Given the description of an element on the screen output the (x, y) to click on. 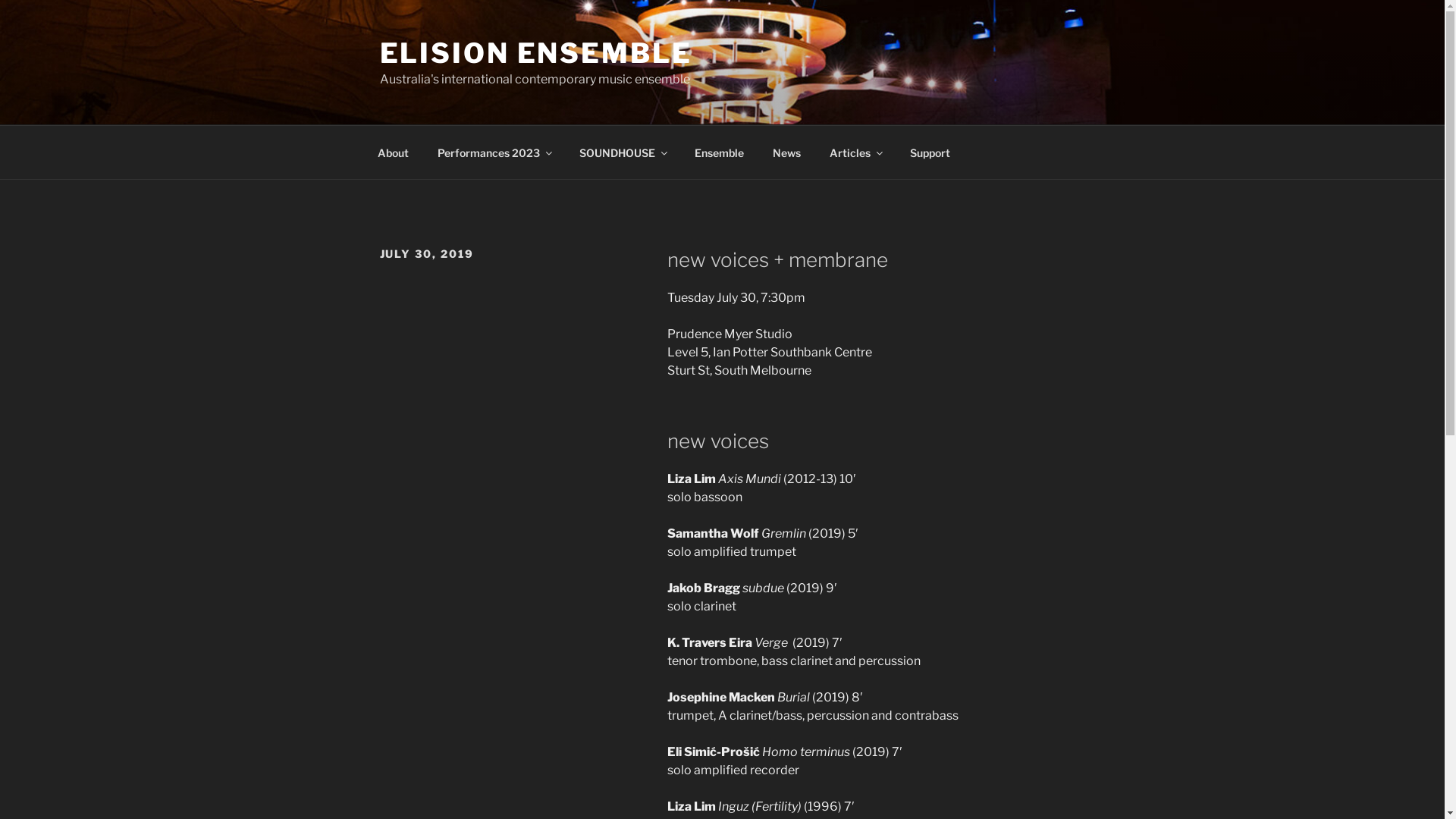
Articles Element type: text (854, 151)
Ensemble Element type: text (718, 151)
Support Element type: text (929, 151)
Performances 2023 Element type: text (494, 151)
ELISION ENSEMBLE Element type: text (535, 52)
About Element type: text (392, 151)
SOUNDHOUSE Element type: text (621, 151)
News Element type: text (786, 151)
